Given the description of an element on the screen output the (x, y) to click on. 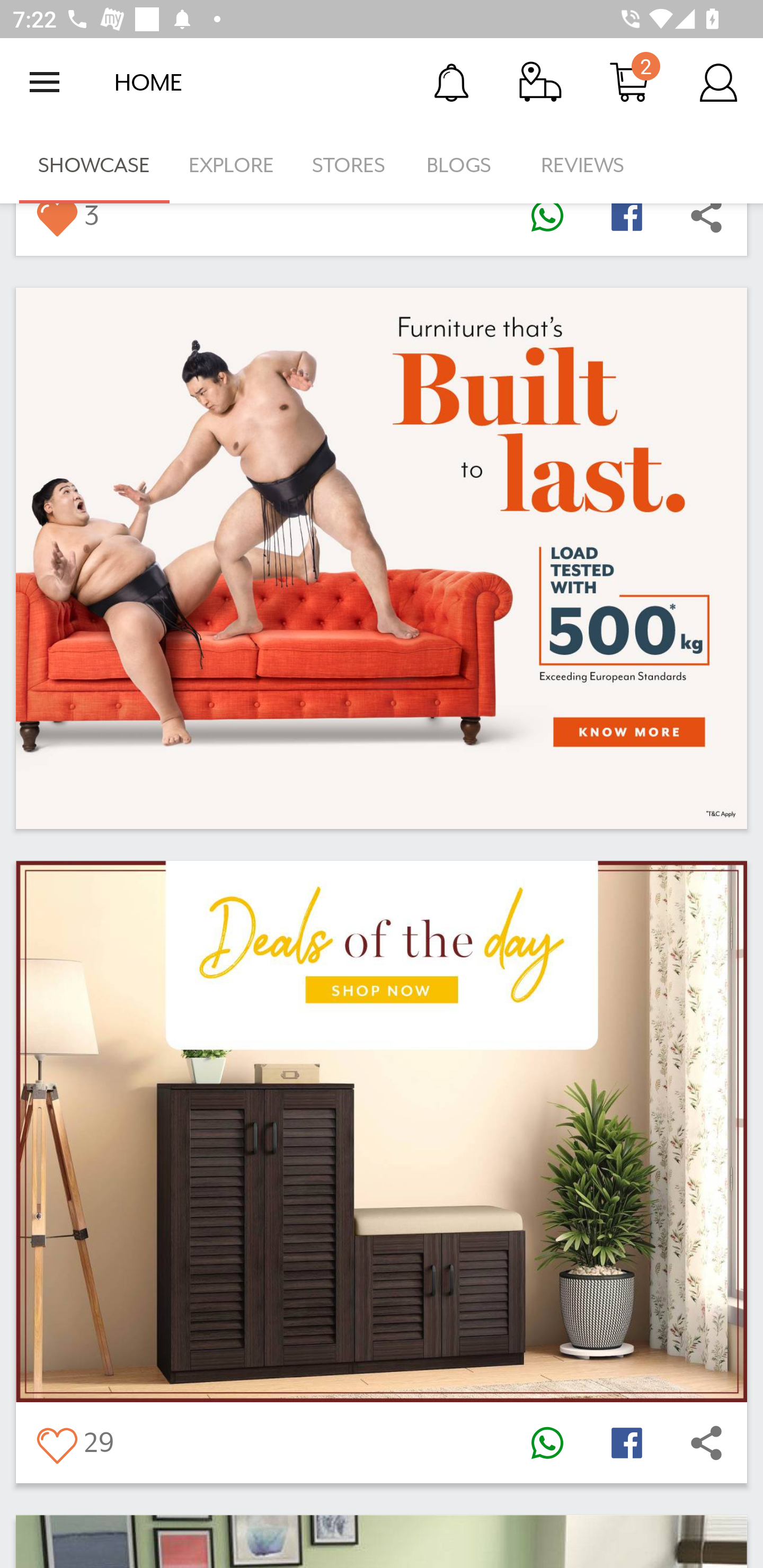
Open navigation drawer (44, 82)
Notification (450, 81)
Track Order (540, 81)
Cart (629, 81)
Account Details (718, 81)
SHOWCASE (94, 165)
EXPLORE (230, 165)
STORES (349, 165)
BLOGS (464, 165)
REVIEWS (582, 165)
 (55, 223)
 (547, 223)
 (626, 223)
 (706, 223)
 (55, 1442)
 (547, 1442)
 (626, 1442)
 (706, 1442)
